Given the description of an element on the screen output the (x, y) to click on. 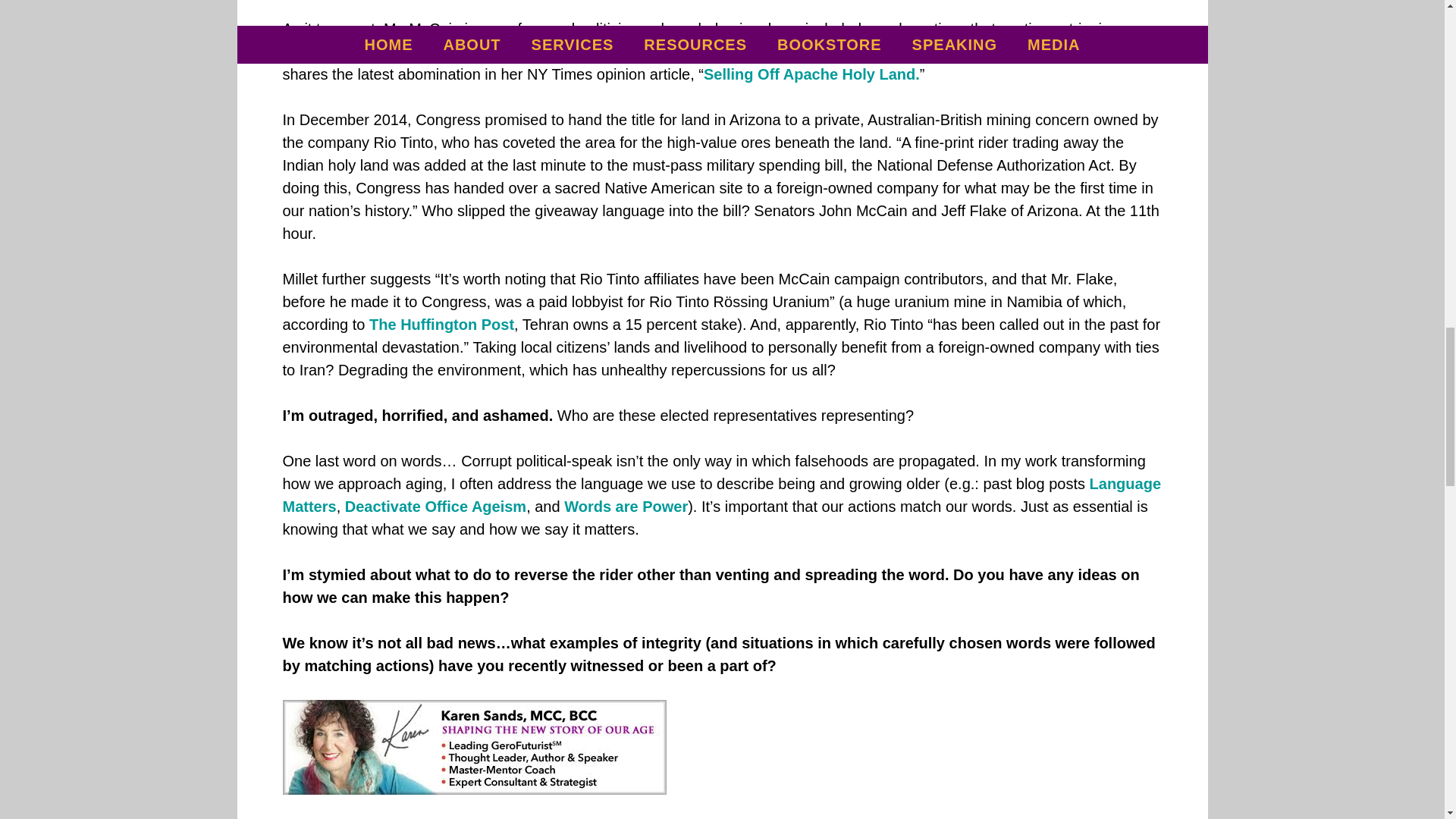
The Huffington Post (441, 324)
Words are Power (625, 506)
Deactivate Office Ageism (435, 506)
Selling Off Apache Holy Land. (811, 74)
Language Matters (721, 495)
